Given the description of an element on the screen output the (x, y) to click on. 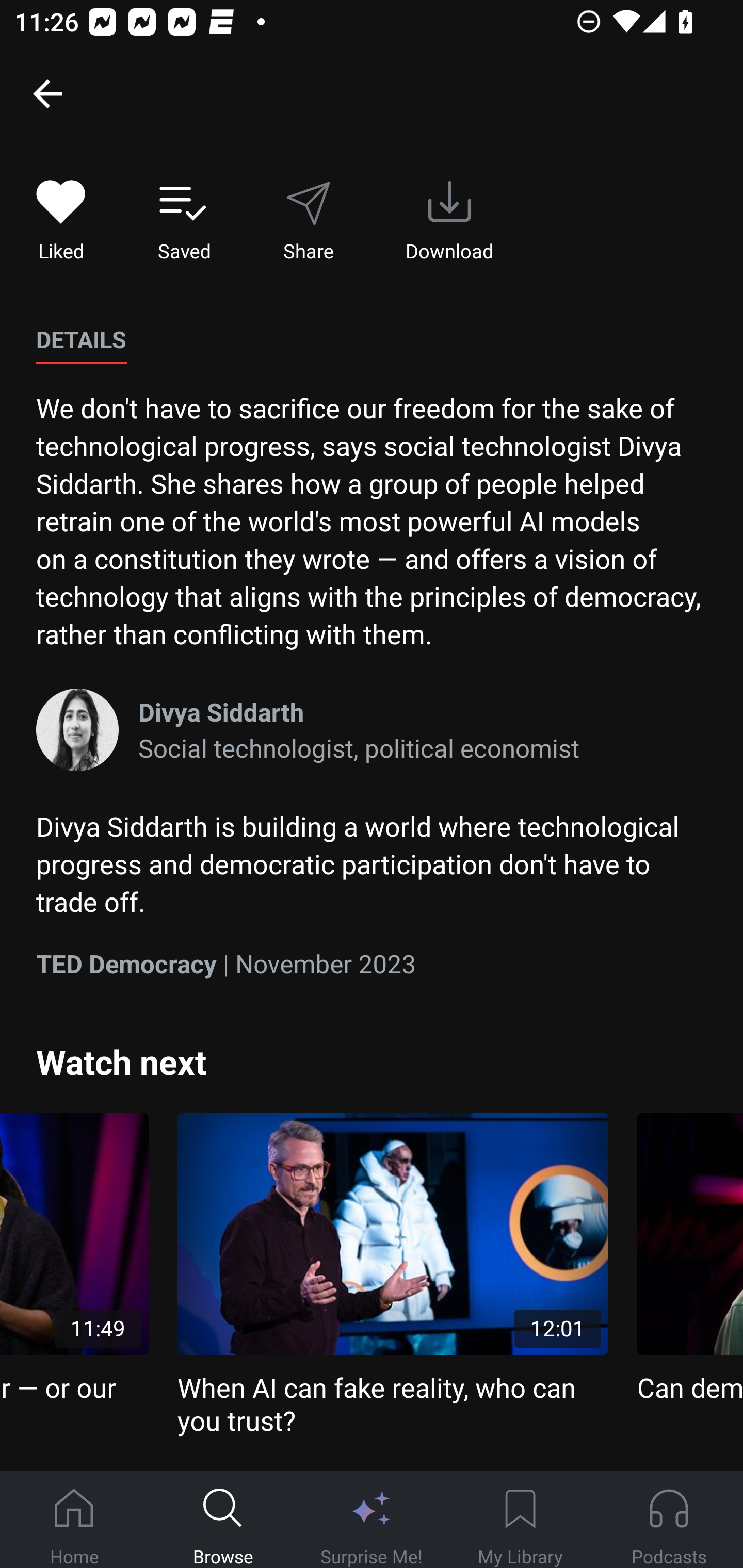
Search, back (47, 92)
Liked (60, 220)
Saved (183, 220)
Share (308, 220)
Download (449, 220)
DETAILS (80, 339)
12:01 When AI can fake reality, who can you trust? (392, 1275)
Home (74, 1520)
Browse (222, 1520)
Surprise Me! (371, 1520)
My Library (519, 1520)
Podcasts (668, 1520)
